Given the description of an element on the screen output the (x, y) to click on. 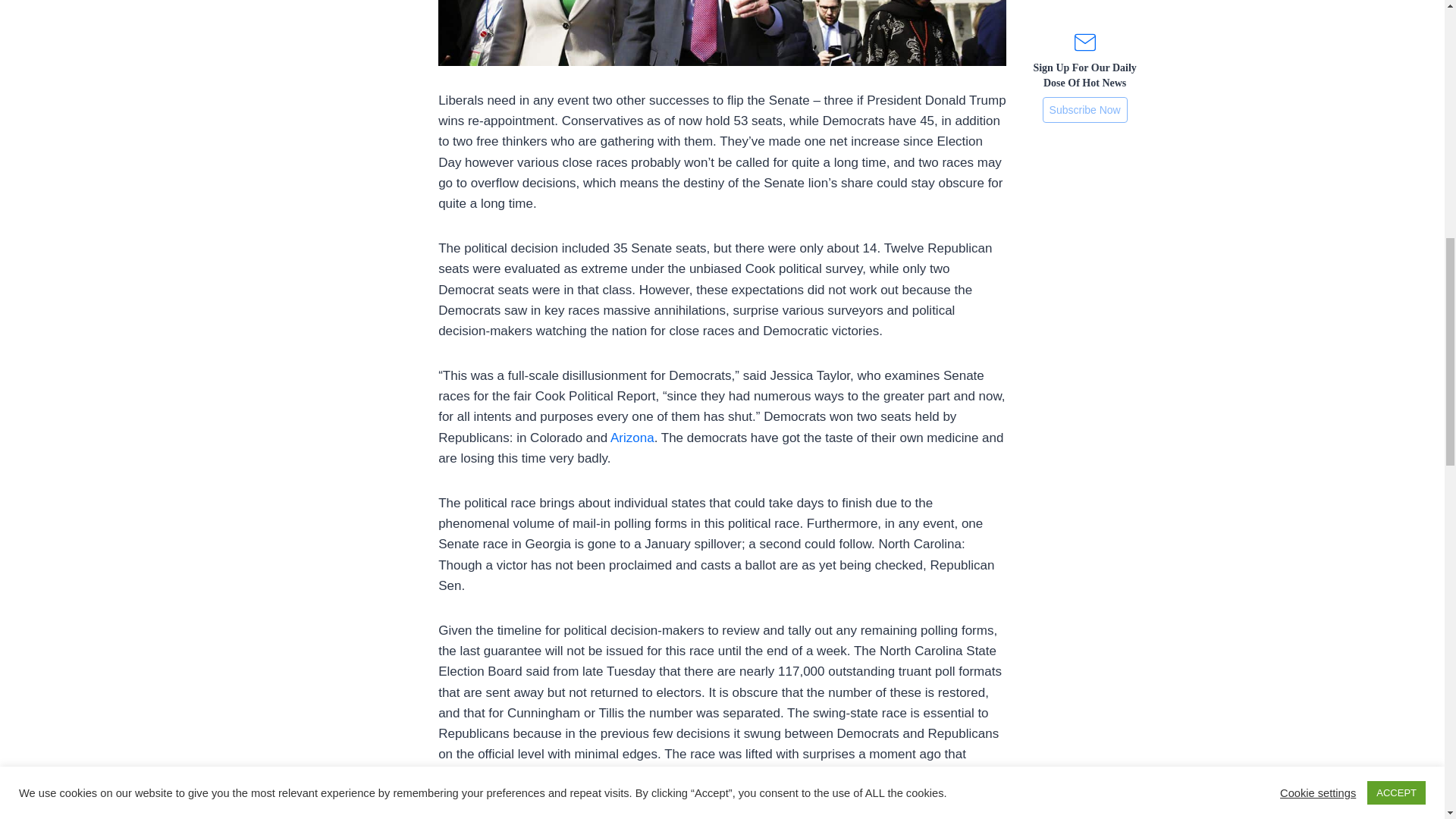
Arizona (631, 437)
